Given the description of an element on the screen output the (x, y) to click on. 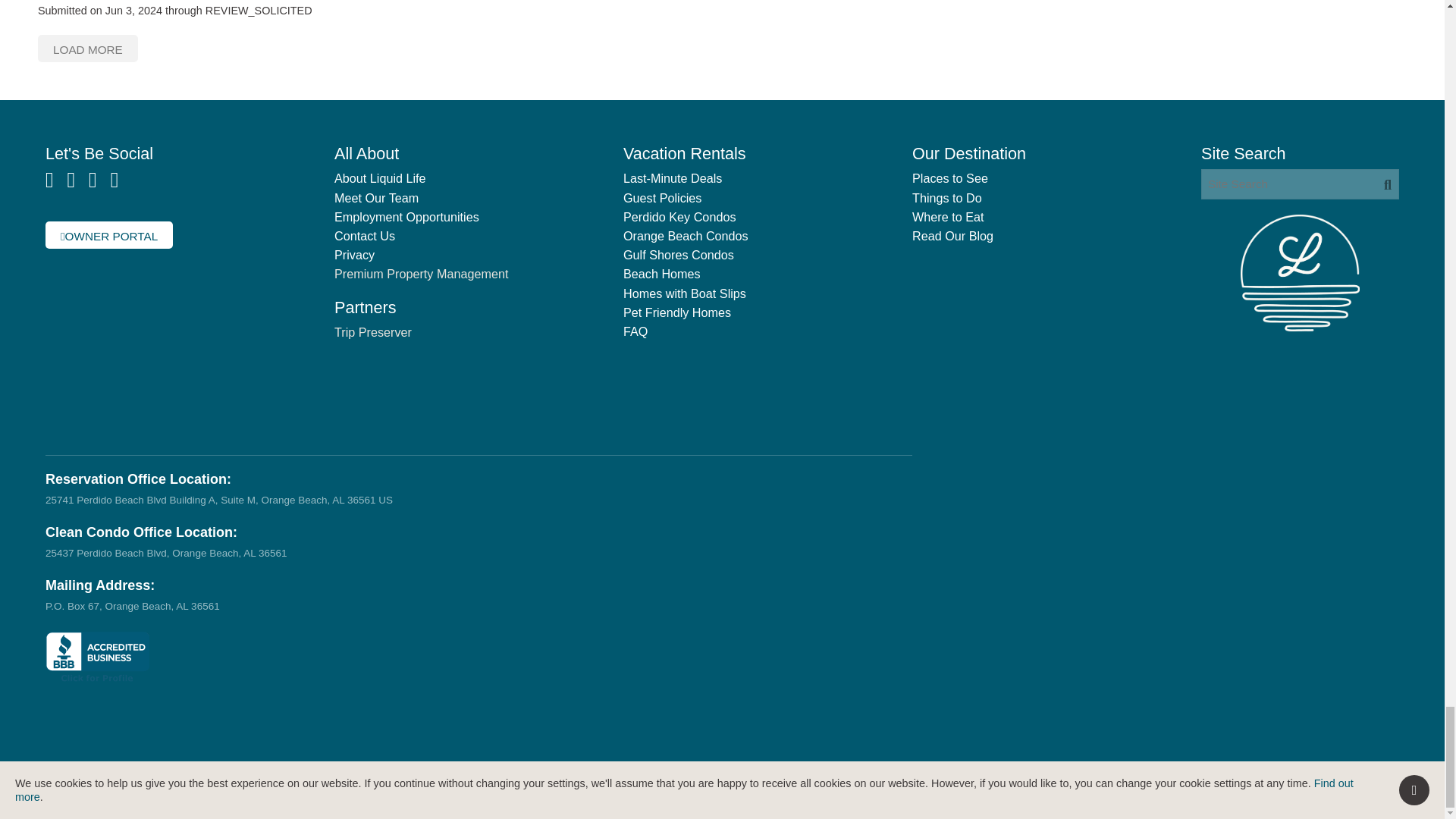
Load More (87, 48)
Load More (87, 48)
